Given the description of an element on the screen output the (x, y) to click on. 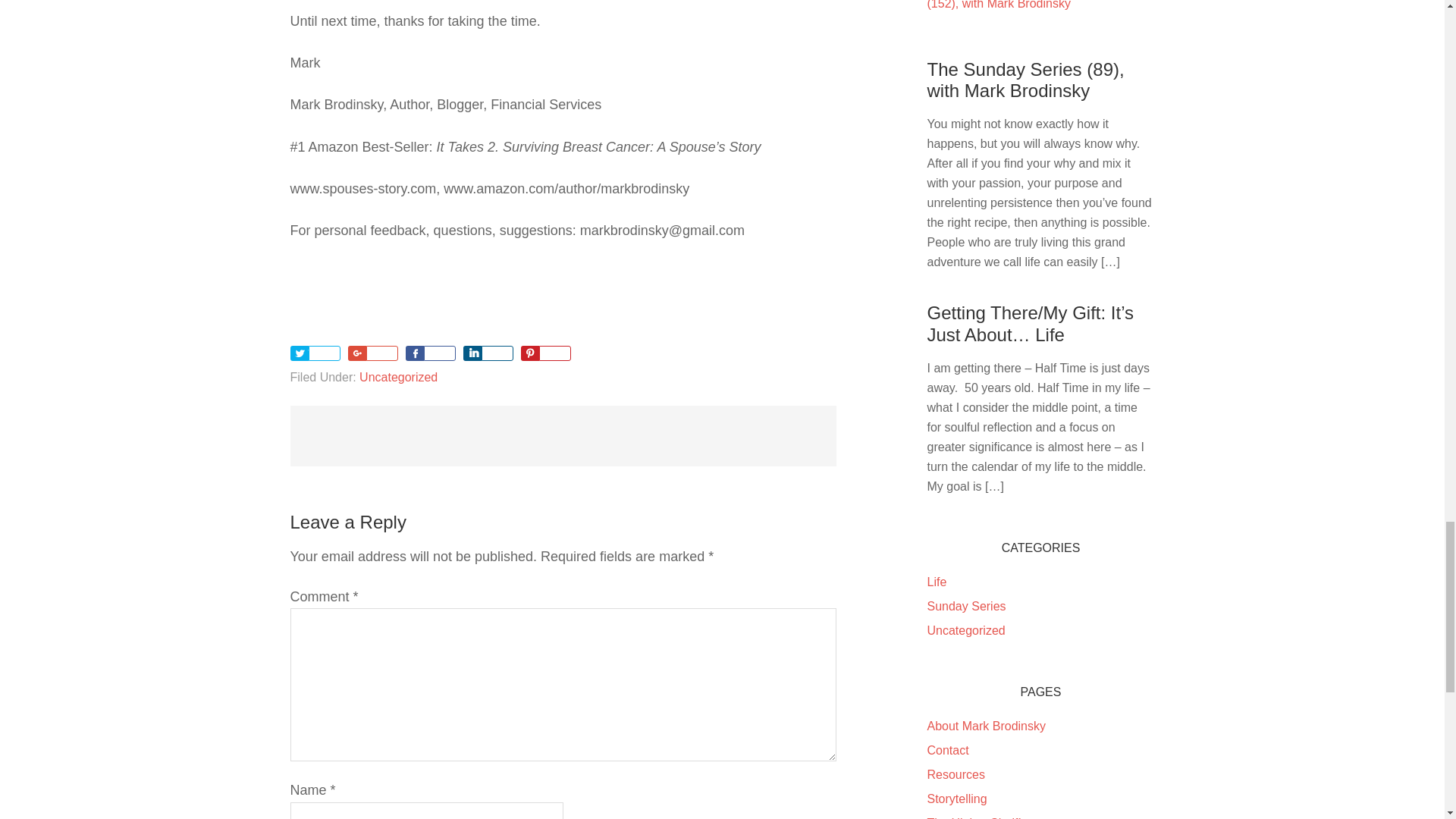
Life (936, 581)
Contact (947, 749)
Tweet (298, 353)
Sunday Series (966, 605)
Like (414, 353)
About Mark Brodinsky (985, 725)
Uncategorized (398, 377)
Pin (529, 353)
Uncategorized (965, 630)
Share (472, 353)
